Given the description of an element on the screen output the (x, y) to click on. 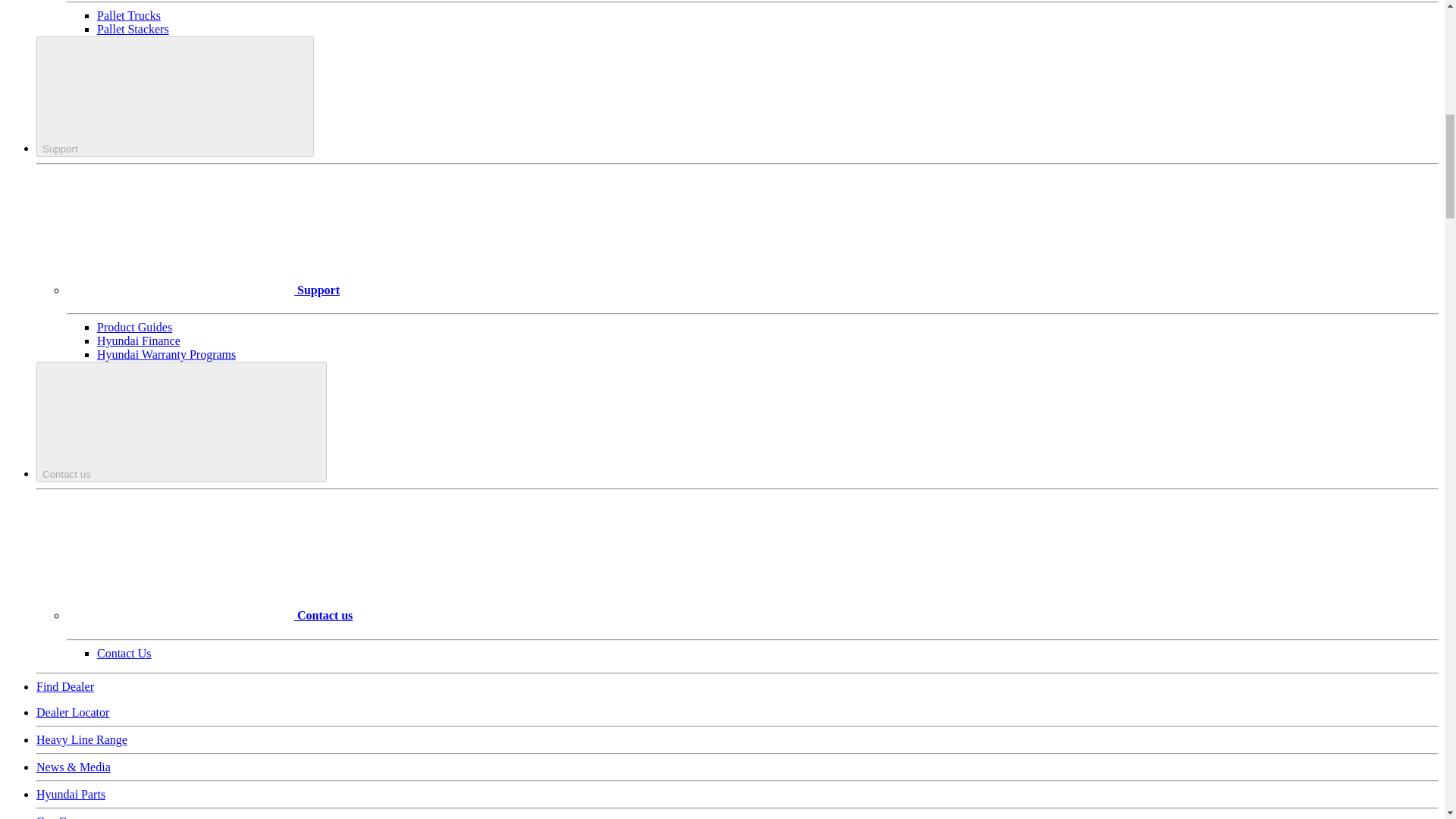
Hyundai Parts (70, 793)
Dealer Locator (72, 712)
Heavy Line Range (82, 739)
Product Guides (134, 327)
icon: arrow-right (180, 562)
icon: arrow-right (180, 237)
Support (175, 96)
Heavy Line Range (82, 739)
Contact us (181, 421)
icon: chevron-up (193, 95)
Pallet Trucks (128, 15)
Hyundai Warranty Programs (166, 354)
Hyundai Finance (138, 340)
Our Company (70, 816)
Pallet Stackers (132, 29)
